Given the description of an element on the screen output the (x, y) to click on. 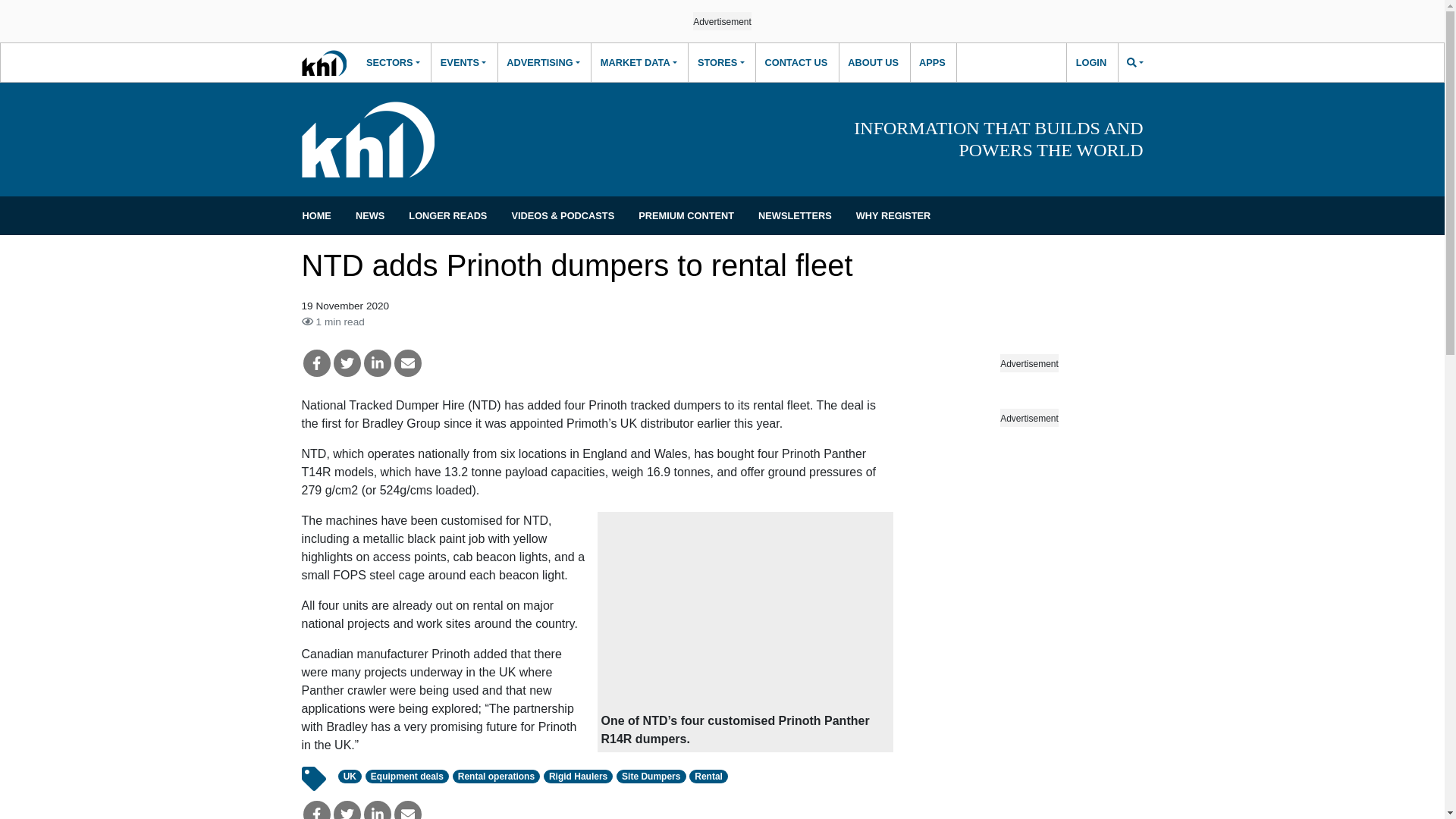
Share this page on Linkedin (377, 809)
Share this page via email (408, 809)
Share this page on Twitter (347, 362)
Share this page via email (408, 362)
Share this page on Twitter (347, 809)
Share this page on Facebook (316, 809)
Share this page on Linkedin (377, 362)
Share this page on Facebook (316, 362)
